Given the description of an element on the screen output the (x, y) to click on. 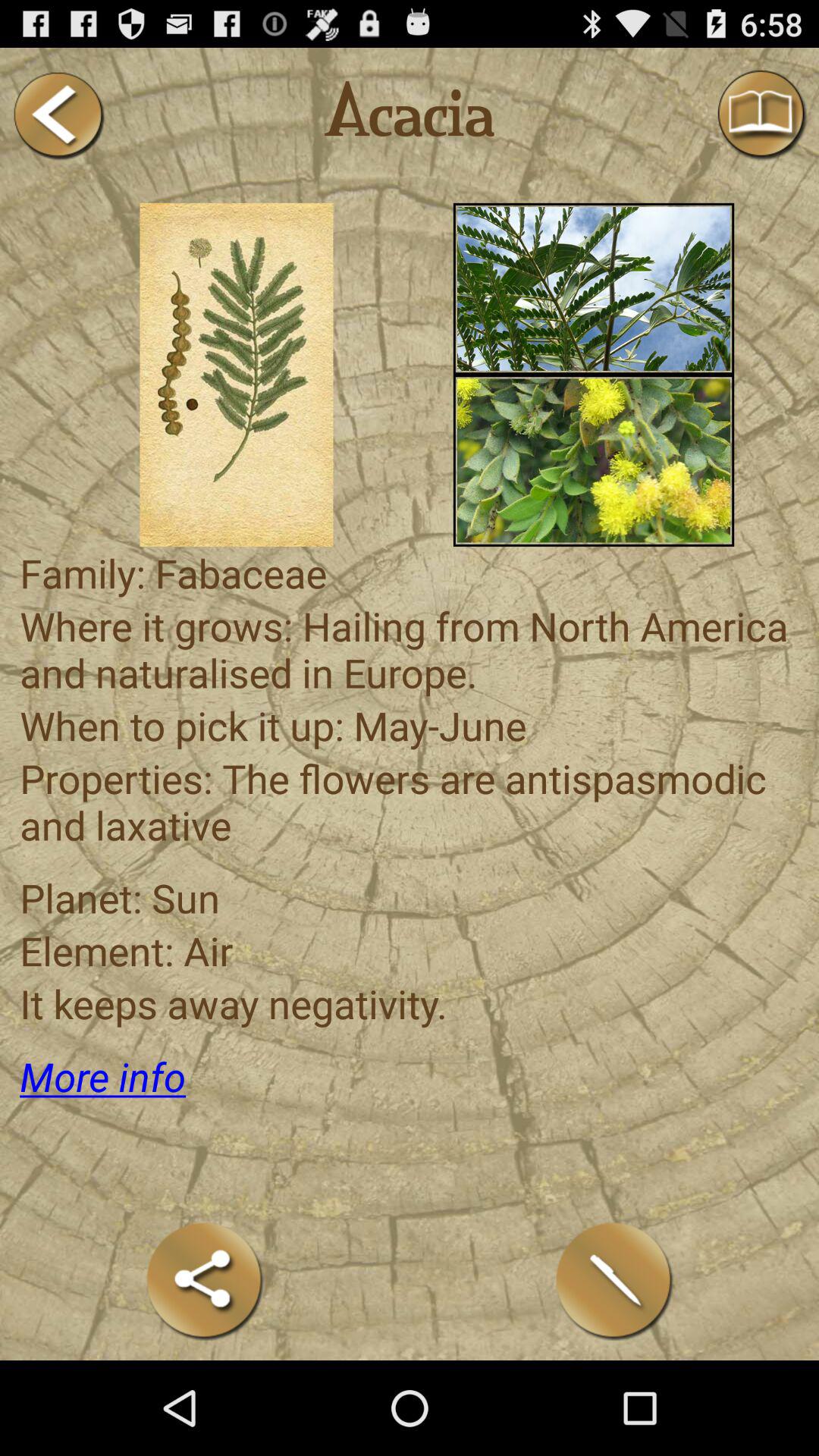
go back (57, 115)
